Given the description of an element on the screen output the (x, y) to click on. 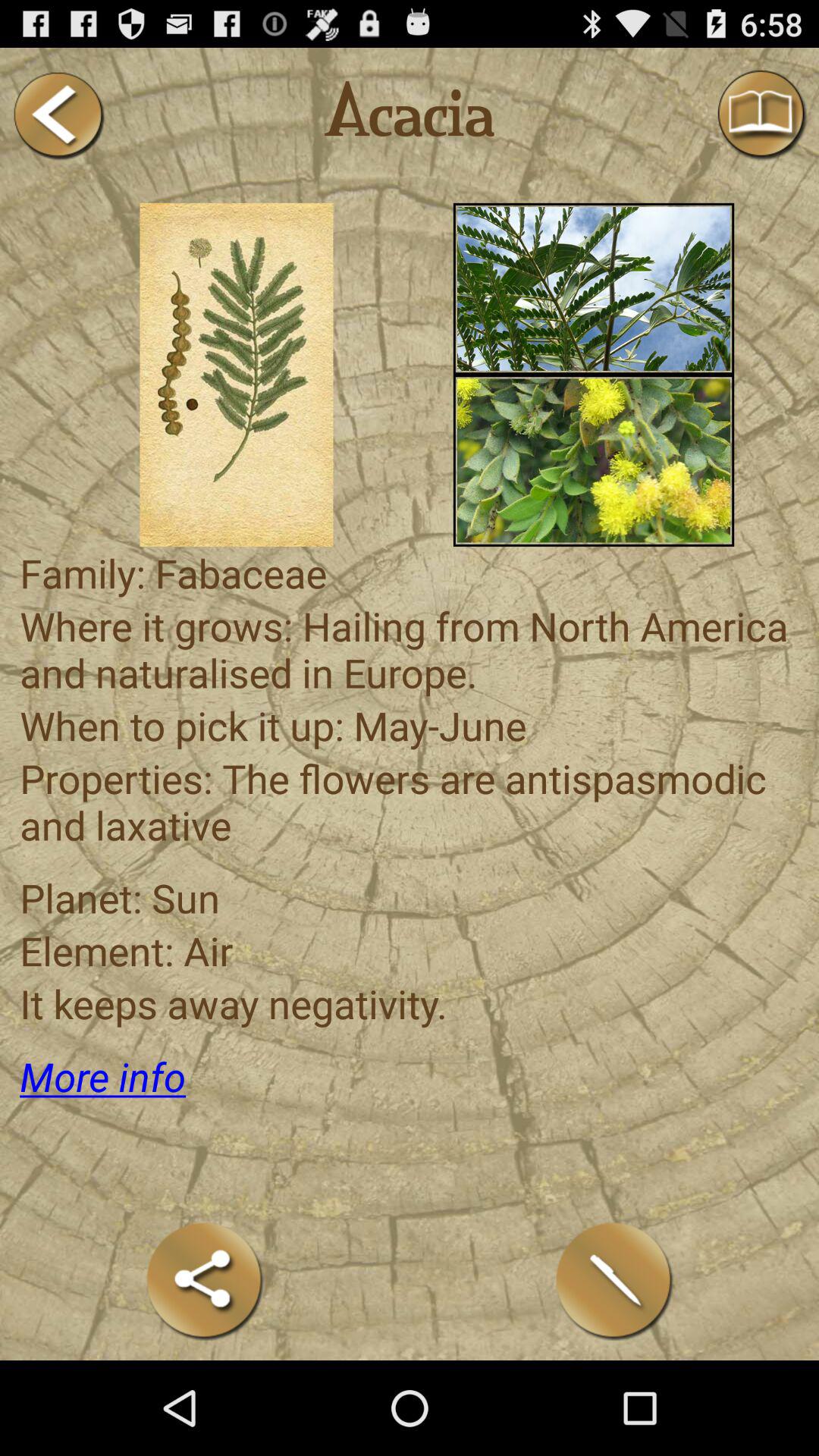
go back (57, 115)
